Given the description of an element on the screen output the (x, y) to click on. 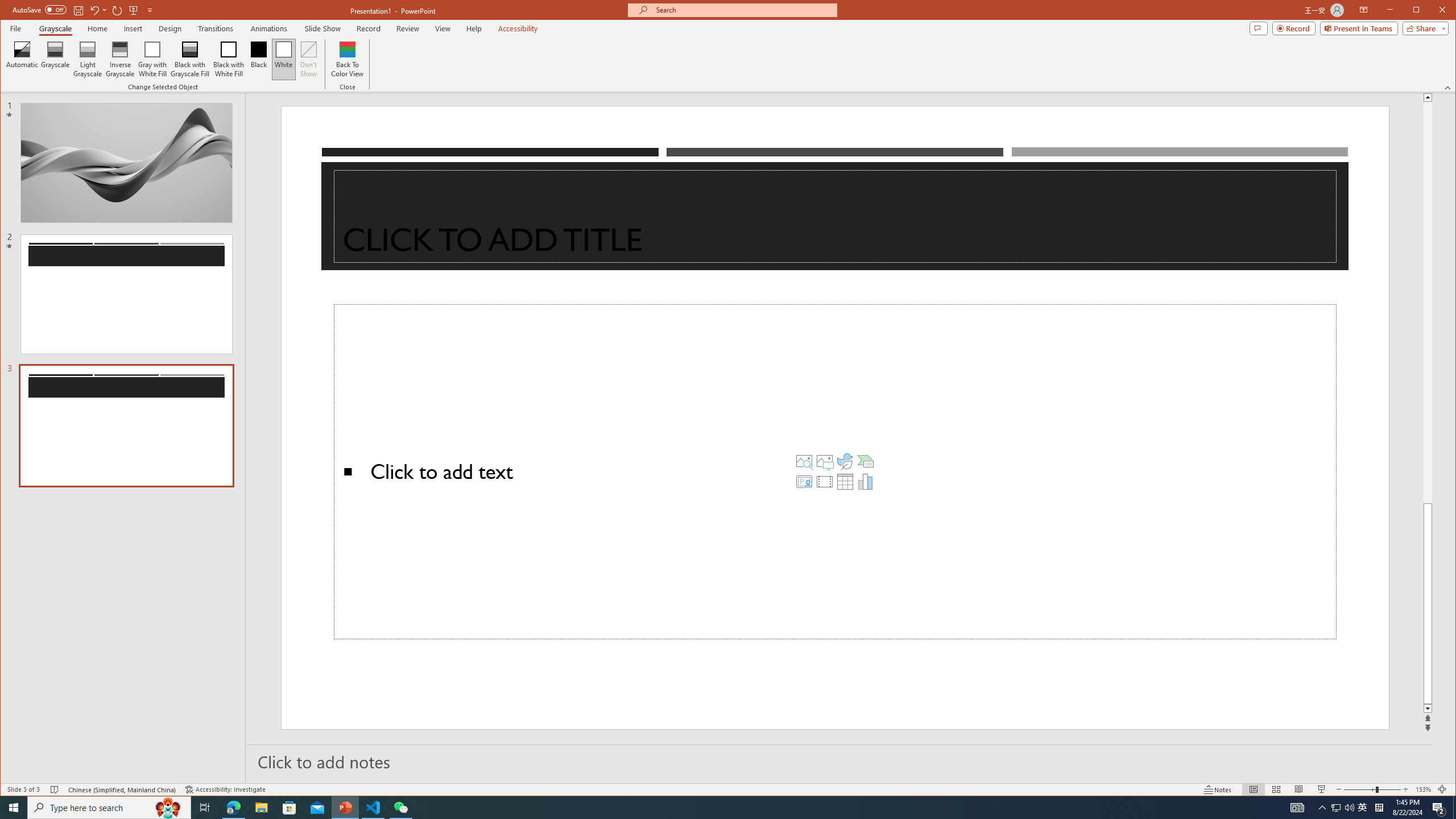
Black (258, 59)
